Given the description of an element on the screen output the (x, y) to click on. 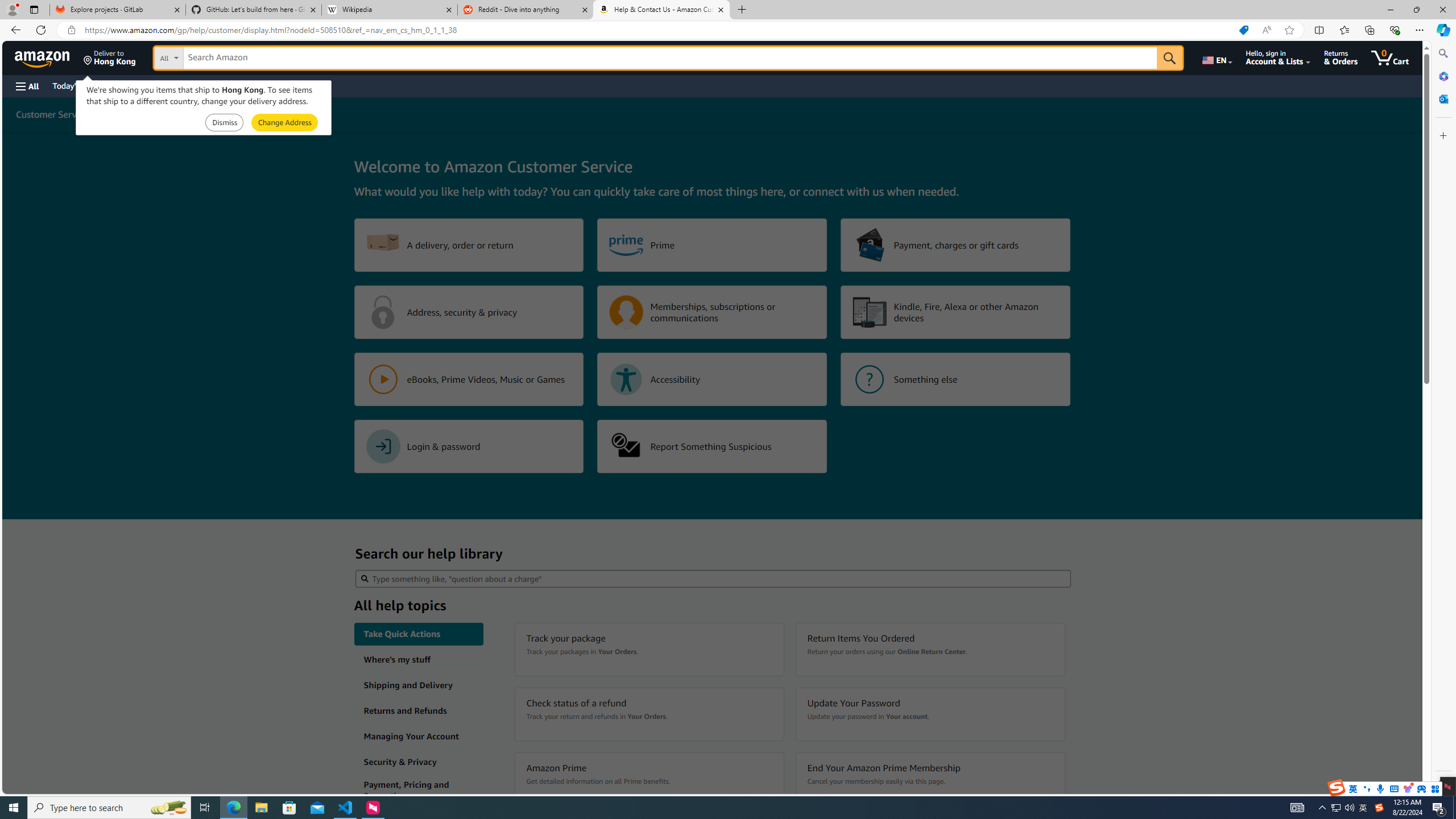
0 items in cart (1389, 57)
A delivery, order or return (468, 244)
Customer Service (52, 114)
Registry (205, 85)
Memberships, subscriptions or communications (711, 312)
Hello, sign in Account & Lists (1278, 57)
Payment, charges or gift cards (955, 244)
Skip to main content (48, 56)
Choose a language for shopping. (1216, 57)
